Given the description of an element on the screen output the (x, y) to click on. 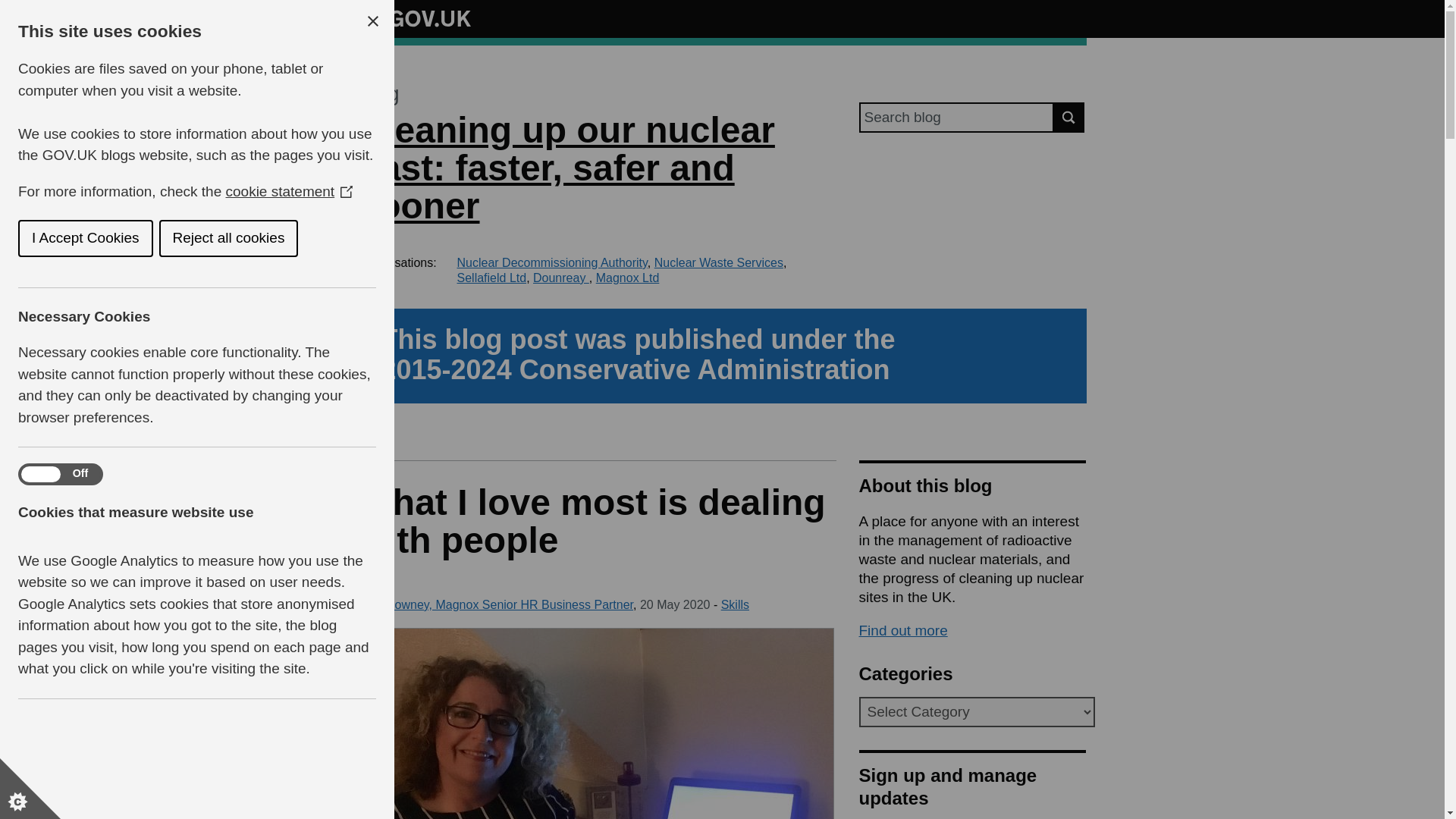
Nuclear Waste Services (718, 262)
Nuclear Decommissioning Authority (551, 262)
Sellafield Ltd (491, 277)
Cleaning up our nuclear past: faster, safer and sooner (566, 167)
Skip to main content (11, 7)
GOV.UK (414, 18)
GOV.UK (414, 15)
Skills (734, 604)
Magnox Ltd (627, 277)
Blog (378, 93)
